Given the description of an element on the screen output the (x, y) to click on. 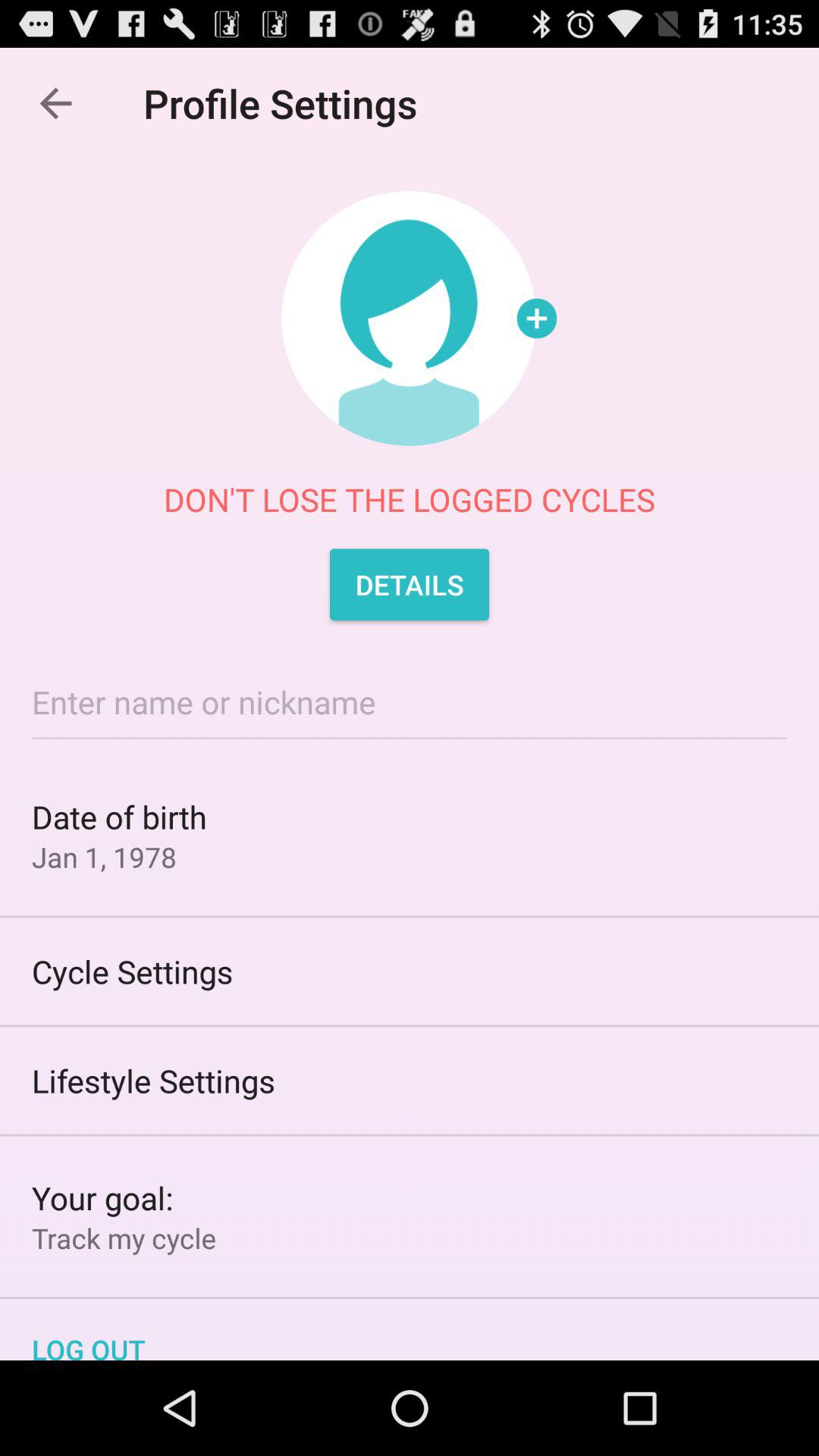
turn on item above the date of birth (409, 701)
